Given the description of an element on the screen output the (x, y) to click on. 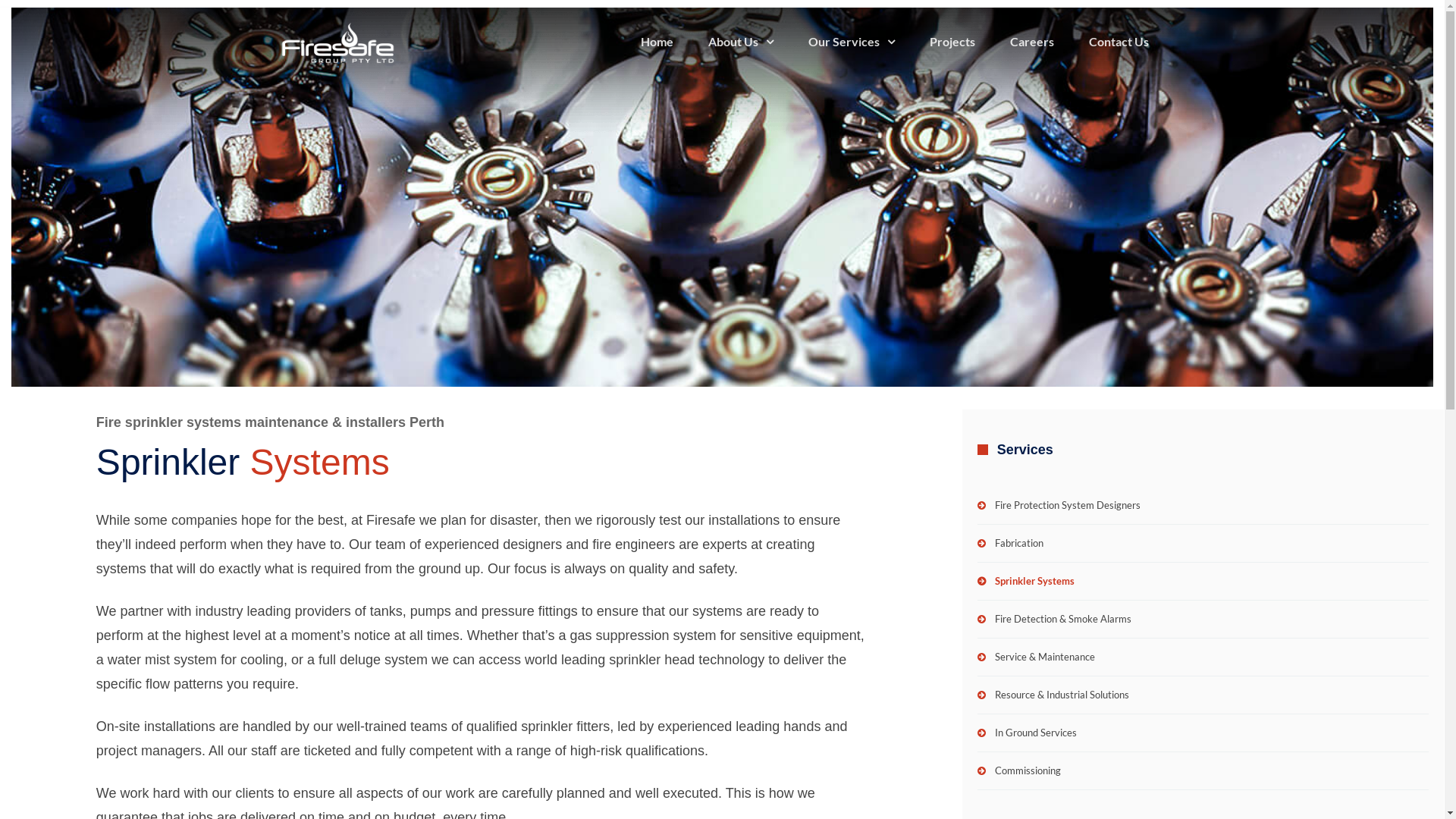
Contact Us Element type: text (1117, 41)
Service & Maintenance Element type: text (1202, 657)
Resource & Industrial Solutions Element type: text (1202, 695)
Fire Detection & Smoke Alarms Element type: text (1202, 619)
Careers Element type: text (1030, 41)
Sprinkler Systems Element type: text (1202, 581)
In Ground Services Element type: text (1202, 733)
Projects Element type: text (951, 41)
Fabrication Element type: text (1202, 543)
Fire Protection System Designers Element type: text (1202, 505)
Firesafe Element type: hover (337, 42)
Home Element type: text (656, 41)
Our Services Element type: text (850, 41)
About Us Element type: text (740, 41)
Commissioning Element type: text (1202, 771)
